Given the description of an element on the screen output the (x, y) to click on. 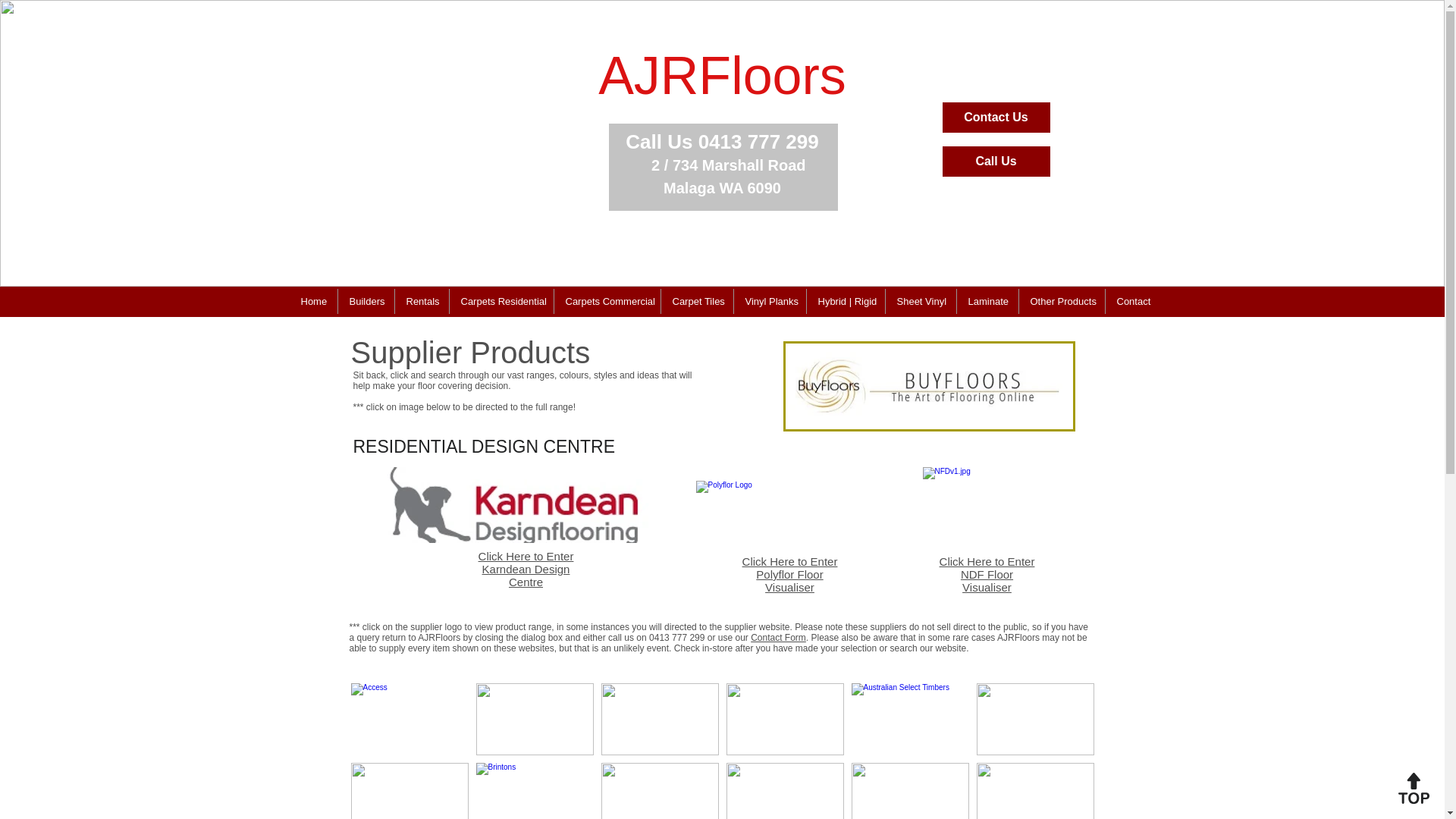
Rentals (421, 301)
Call Us (995, 161)
0413 777 299 (758, 141)
Carpets Residential (500, 301)
Home (313, 301)
AJRFloors (721, 78)
Contact Us (995, 117)
